Given the description of an element on the screen output the (x, y) to click on. 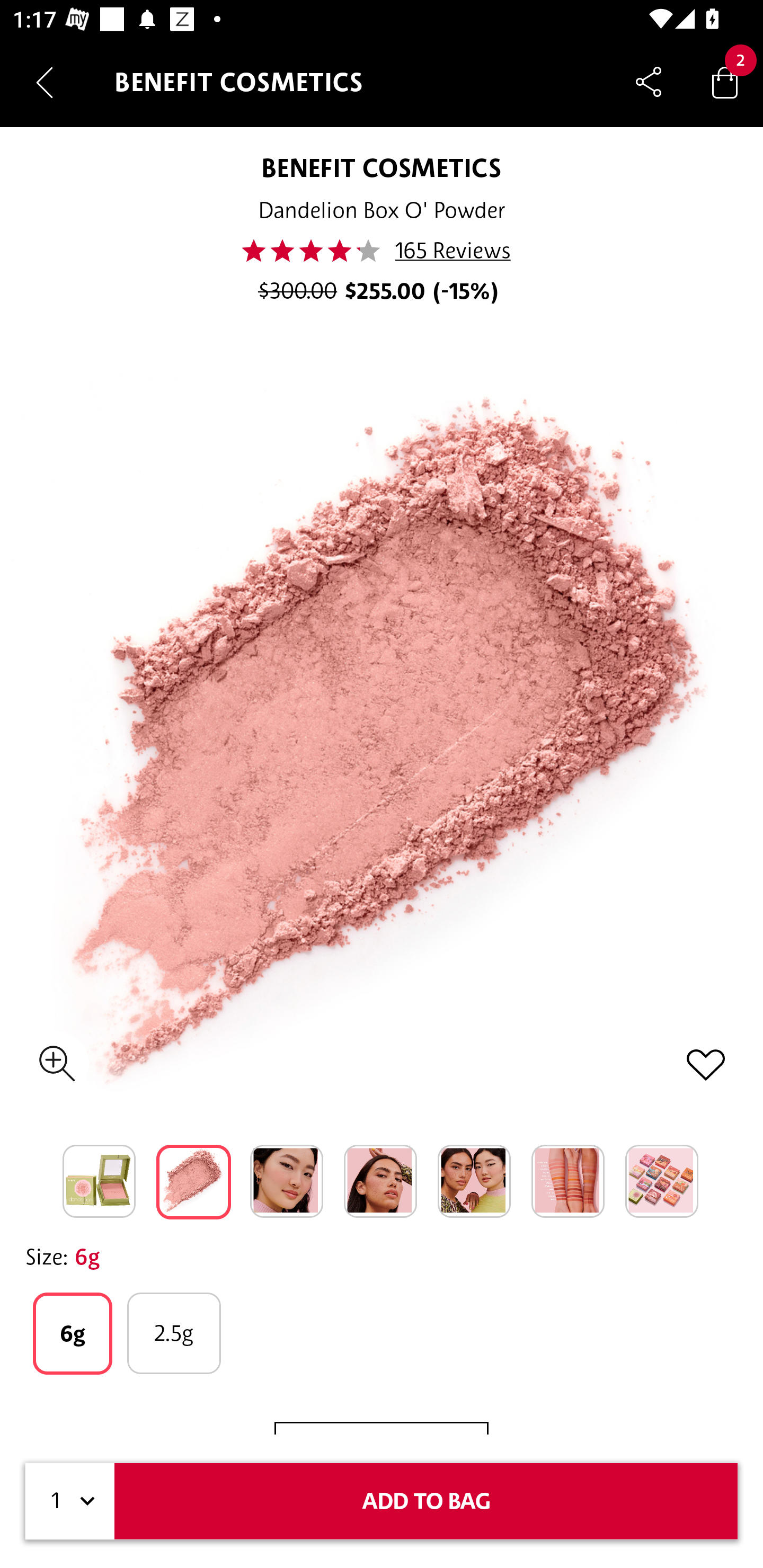
Navigate up (44, 82)
Share (648, 81)
Bag (724, 81)
BENEFIT COSMETICS (381, 167)
42.0 165 Reviews (381, 250)
6g (72, 1333)
2.5g (174, 1332)
1 (69, 1500)
ADD TO BAG (425, 1500)
